Given the description of an element on the screen output the (x, y) to click on. 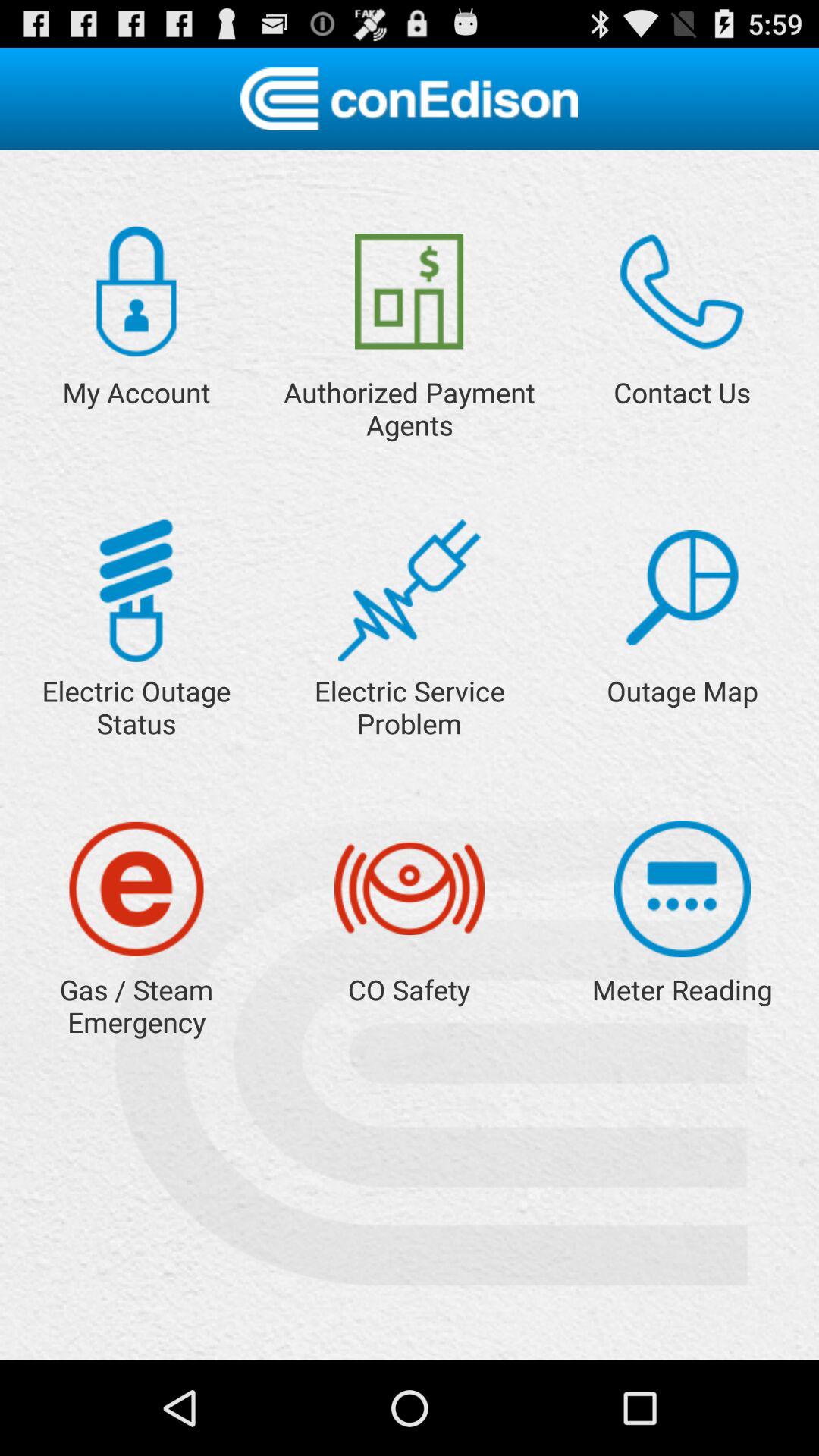
user account (136, 291)
